Given the description of an element on the screen output the (x, y) to click on. 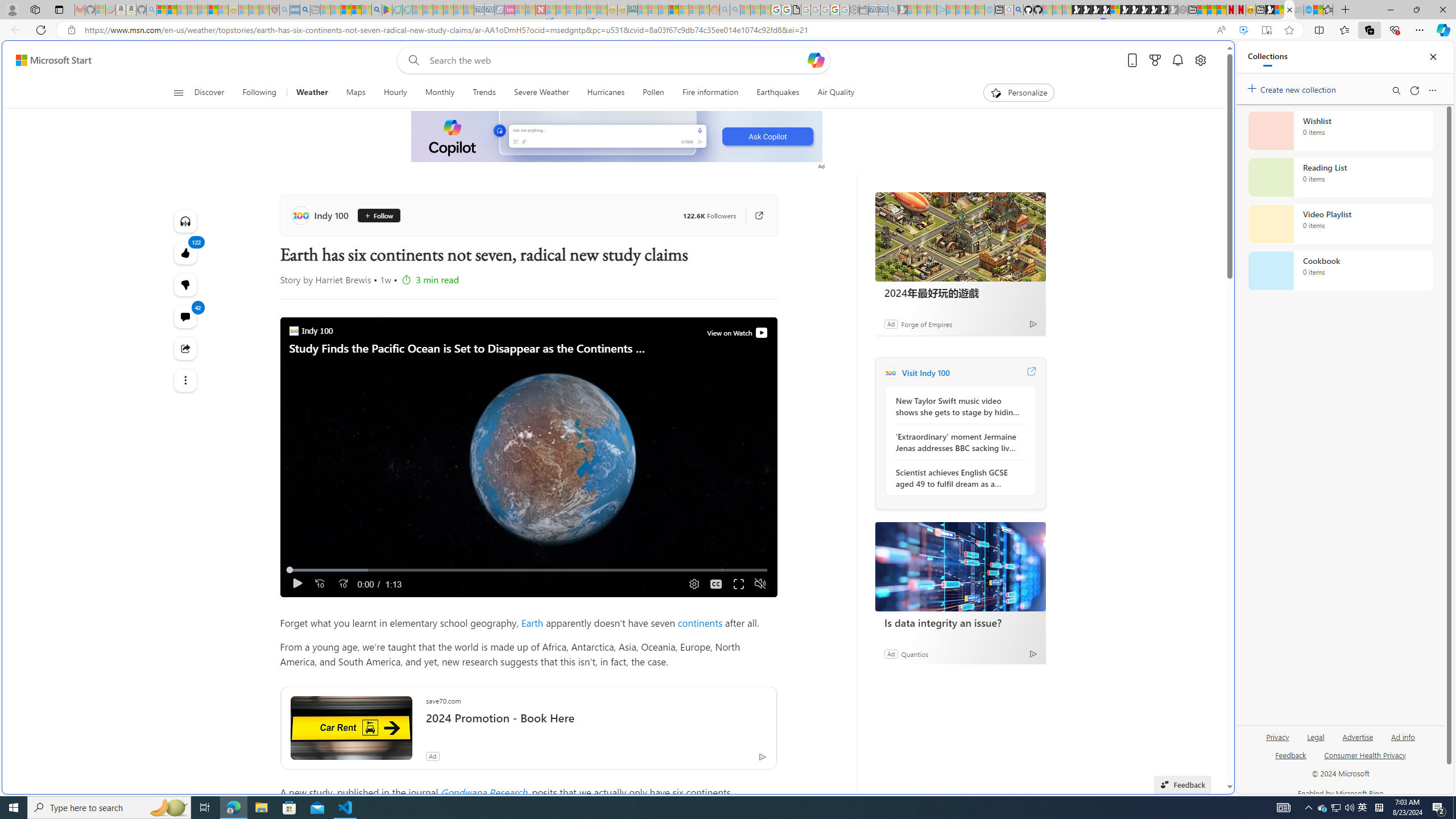
Fullscreen (737, 583)
Hurricanes (606, 92)
Gondwana Research (483, 791)
Home | Sky Blue Bikes - Sky Blue Bikes (1118, 242)
Bluey: Let's Play! - Apps on Google Play (387, 9)
Hourly (395, 92)
Wishlist collection, 0 items (1339, 130)
Maps (355, 92)
